Given the description of an element on the screen output the (x, y) to click on. 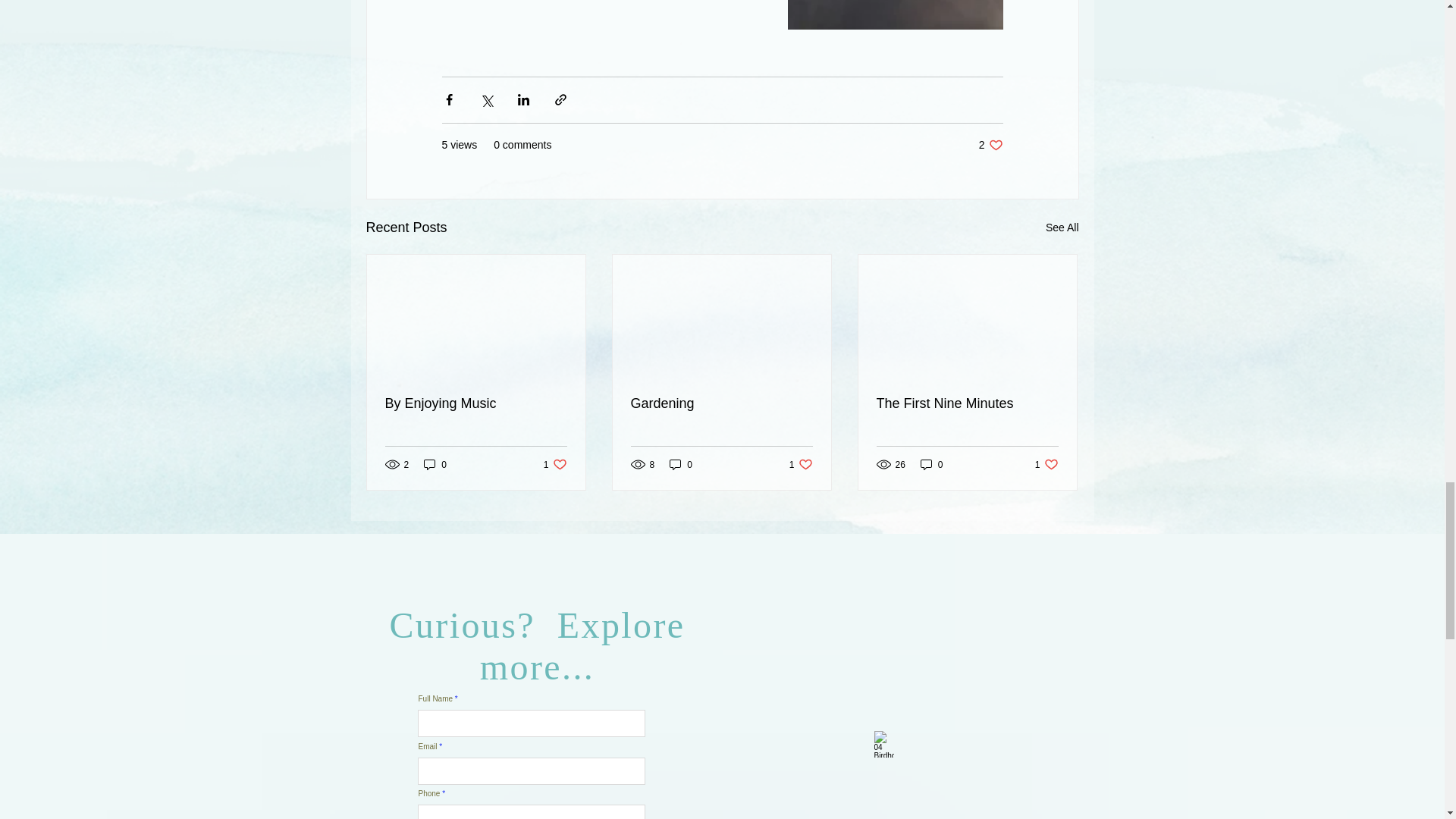
0 (681, 464)
Gardening (800, 464)
0 (721, 403)
By Enjoying Music (435, 464)
See All (555, 464)
